Given the description of an element on the screen output the (x, y) to click on. 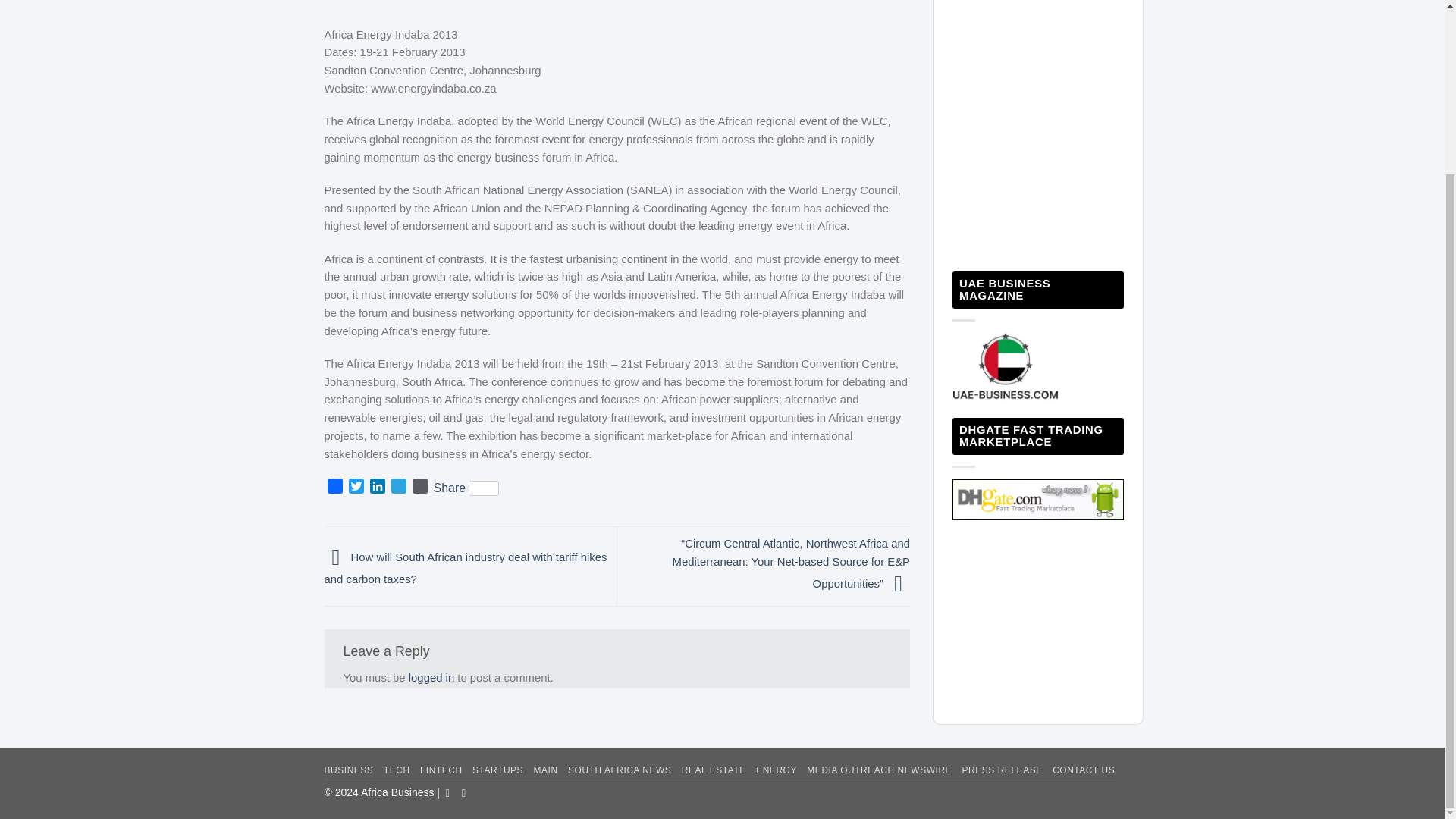
logged in (431, 677)
WordPress (419, 487)
Facebook (335, 487)
Facebook (335, 487)
WordPress (419, 487)
Share (466, 488)
Twitter (356, 487)
Telegram (398, 487)
LinkedIn (377, 487)
